Given the description of an element on the screen output the (x, y) to click on. 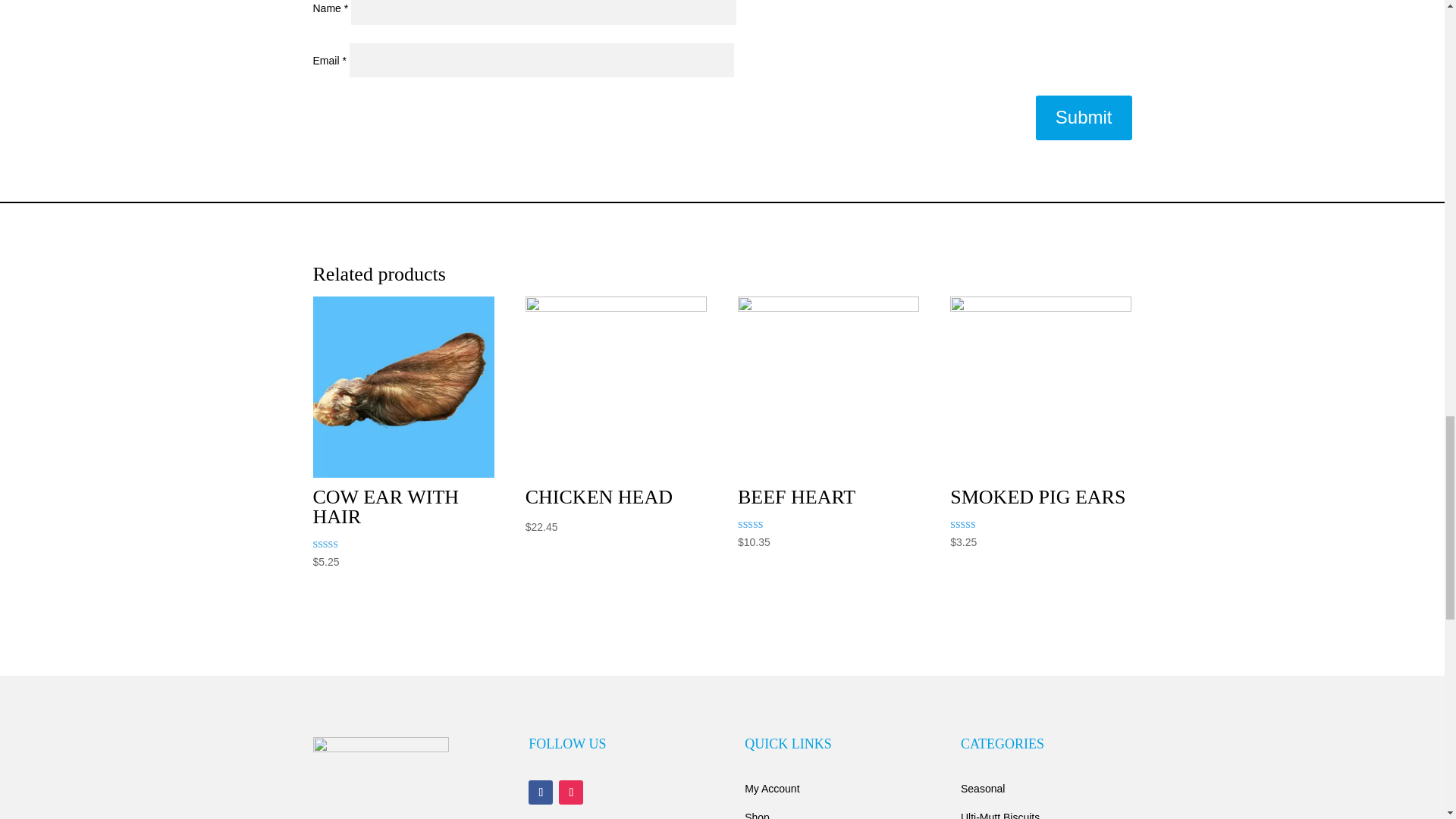
Follow on Facebook (540, 792)
ulti mutt bakery logo transparent (380, 778)
Follow on Instagram (571, 792)
Submit (1083, 117)
